Given the description of an element on the screen output the (x, y) to click on. 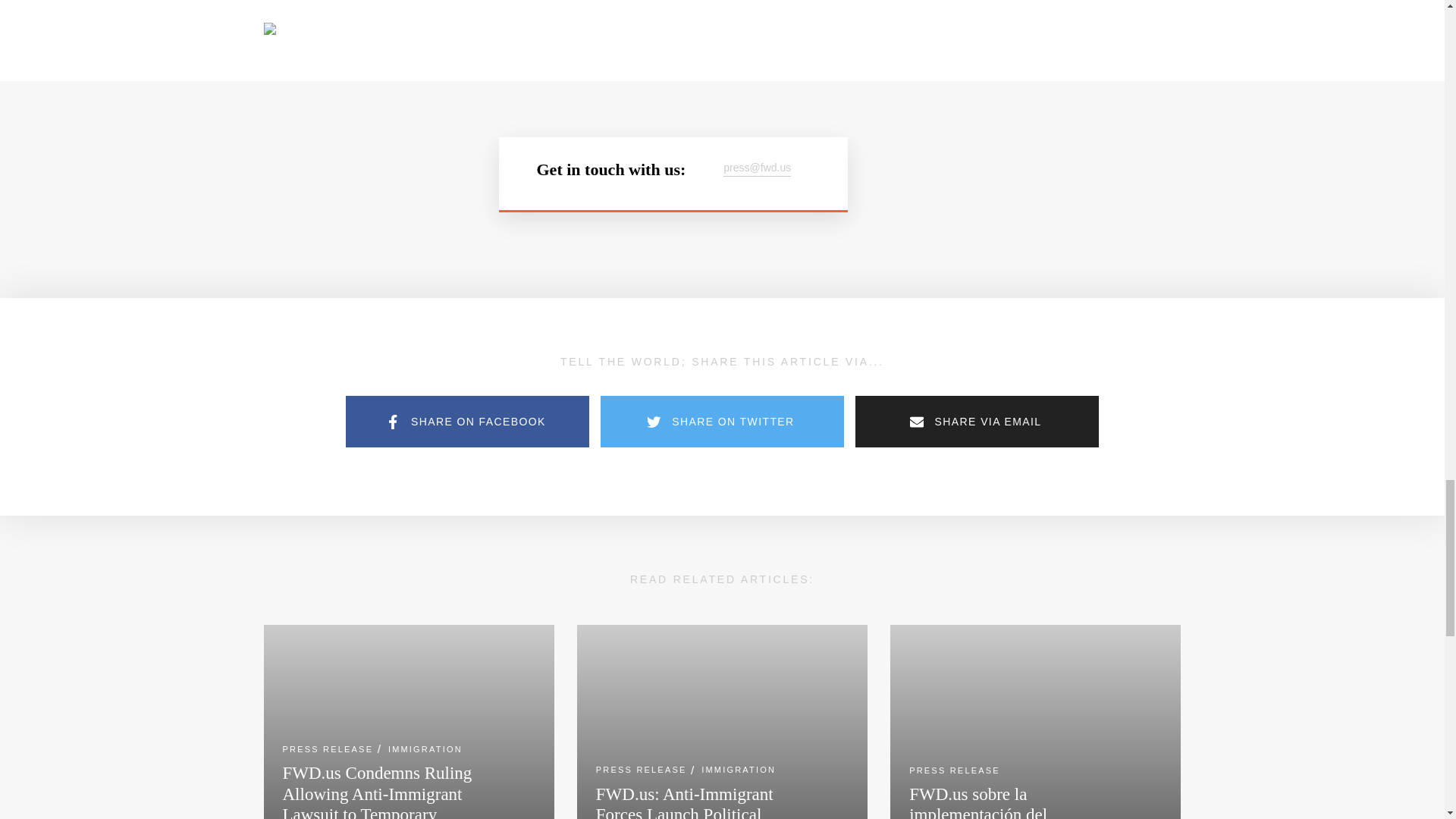
SHARE ON TWITTER (721, 421)
SHARE ON FACEBOOK (467, 421)
SHARE VIA EMAIL (977, 421)
